Given the description of an element on the screen output the (x, y) to click on. 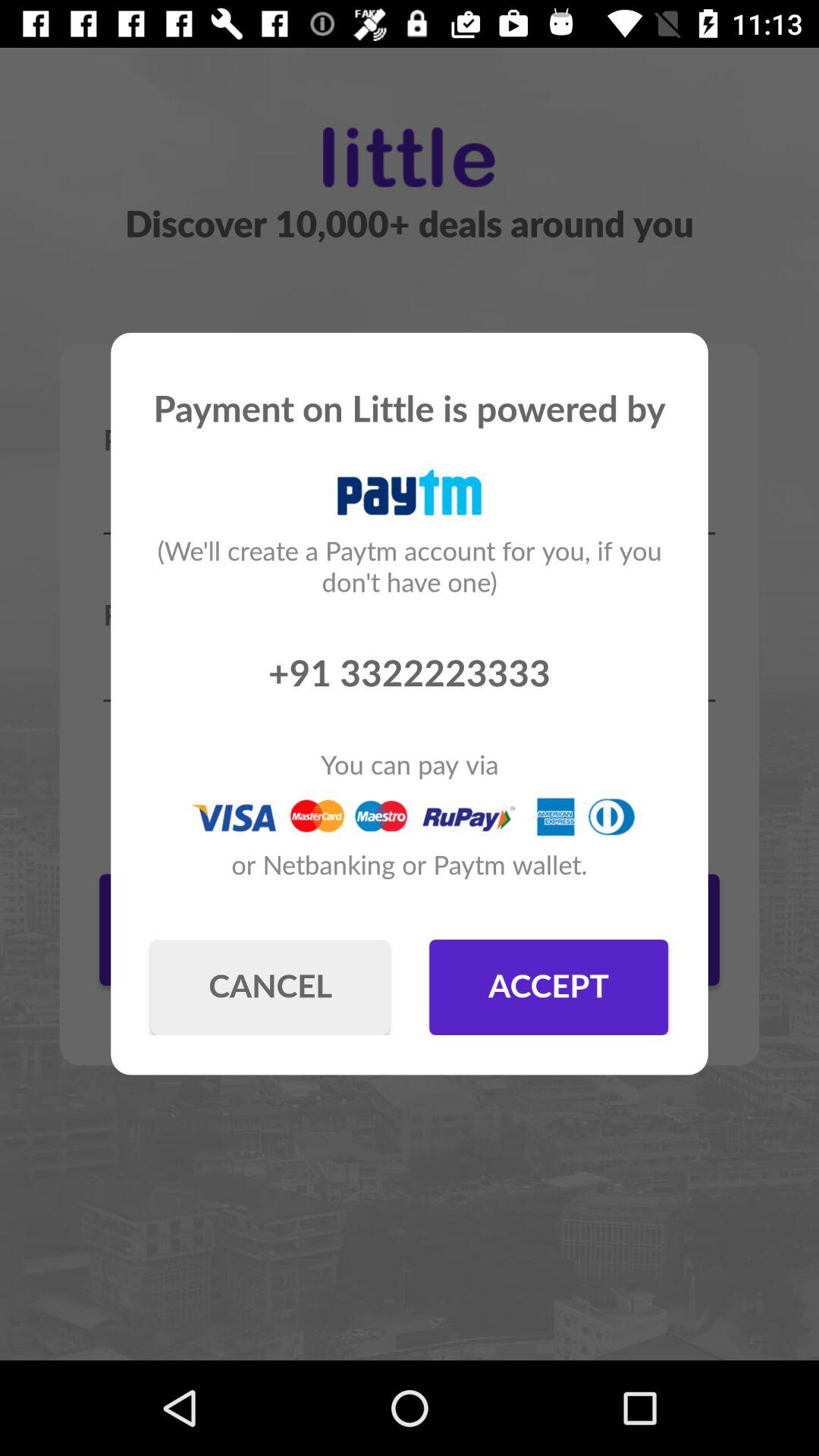
tap cancel at the bottom left corner (269, 987)
